Given the description of an element on the screen output the (x, y) to click on. 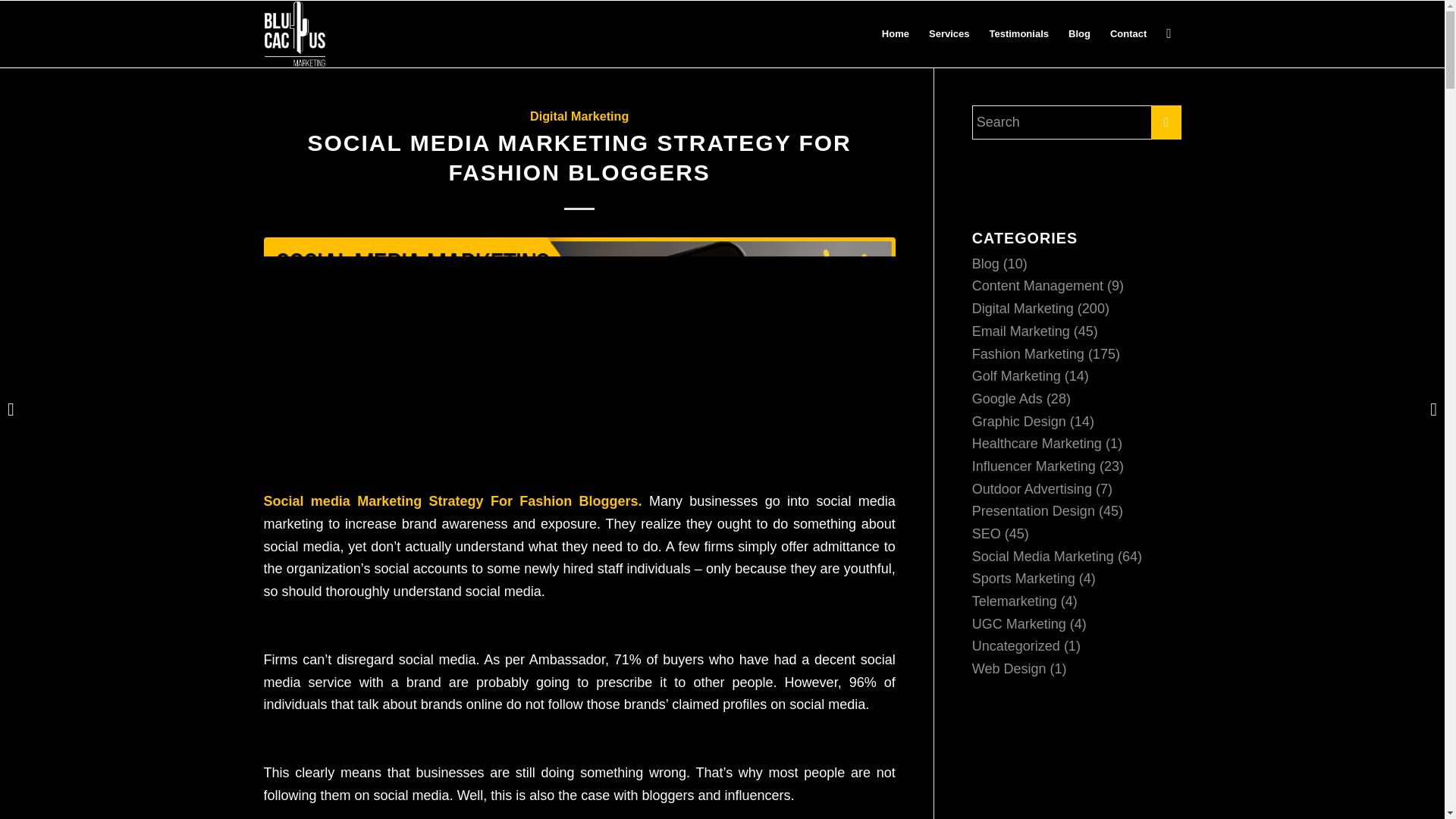
Services (948, 33)
Testimonials (1018, 33)
Digital Marketing (578, 115)
